Given the description of an element on the screen output the (x, y) to click on. 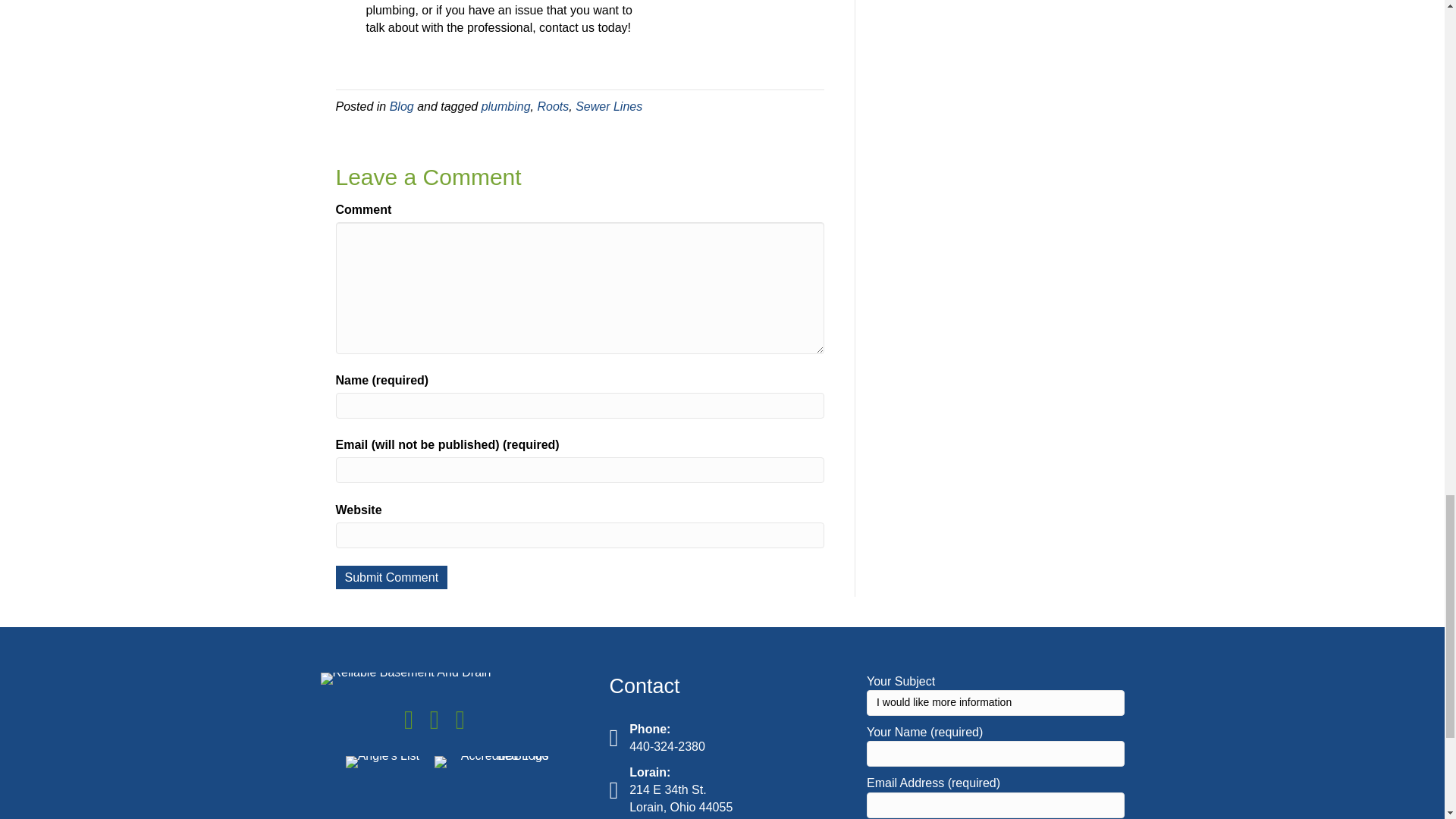
BBB Plus Accredited Logo (490, 761)
Reliable Basement And Drain Logo (405, 678)
I would like more information (995, 702)
Submit Comment (390, 576)
Angi 2020 Super Service Award (382, 761)
